Given the description of an element on the screen output the (x, y) to click on. 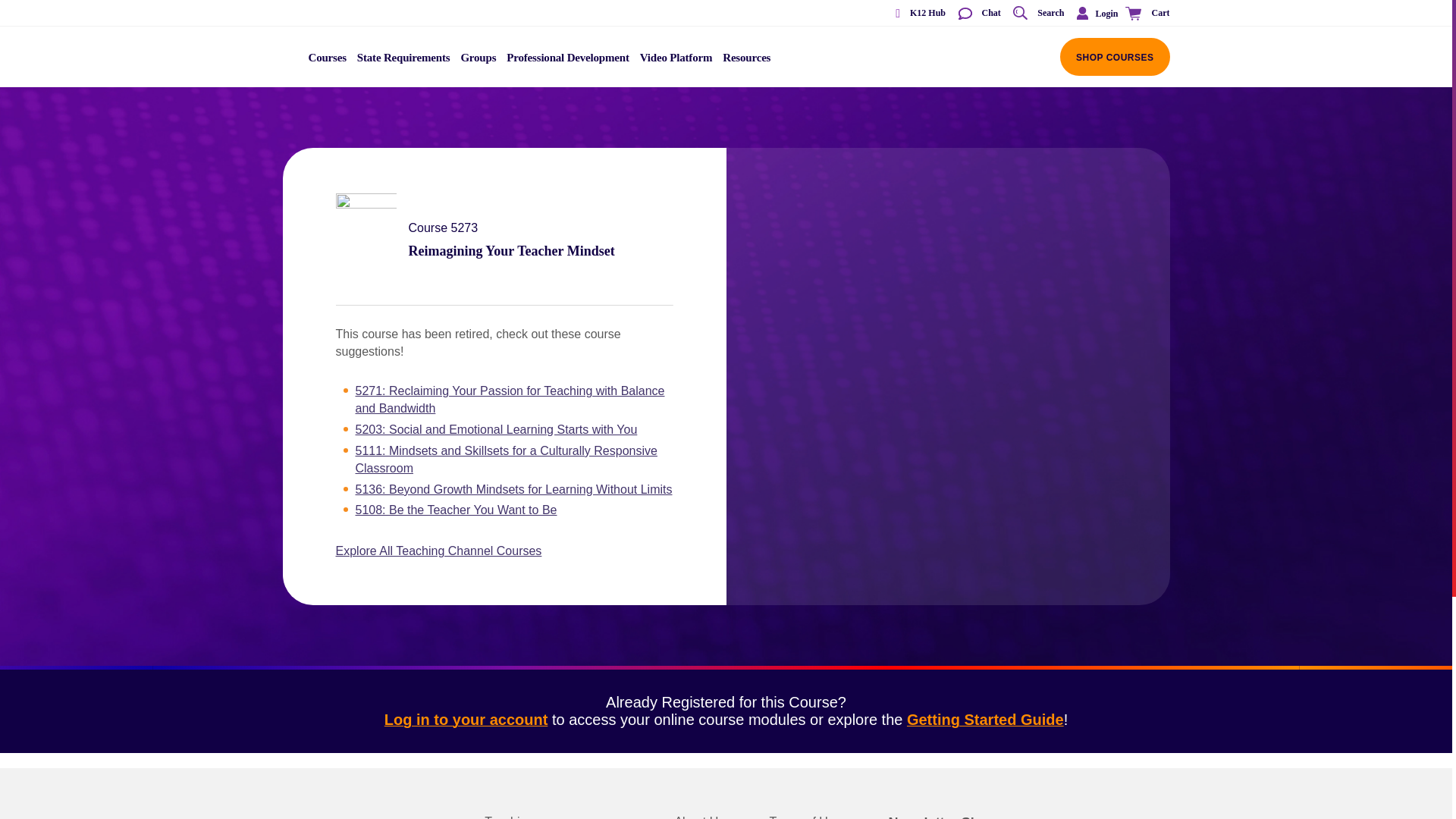
Chat (978, 13)
Search (1037, 13)
Cart (1145, 13)
K12 Hub (914, 13)
State Requirements (403, 62)
Courses (327, 62)
Login (1093, 12)
